Given the description of an element on the screen output the (x, y) to click on. 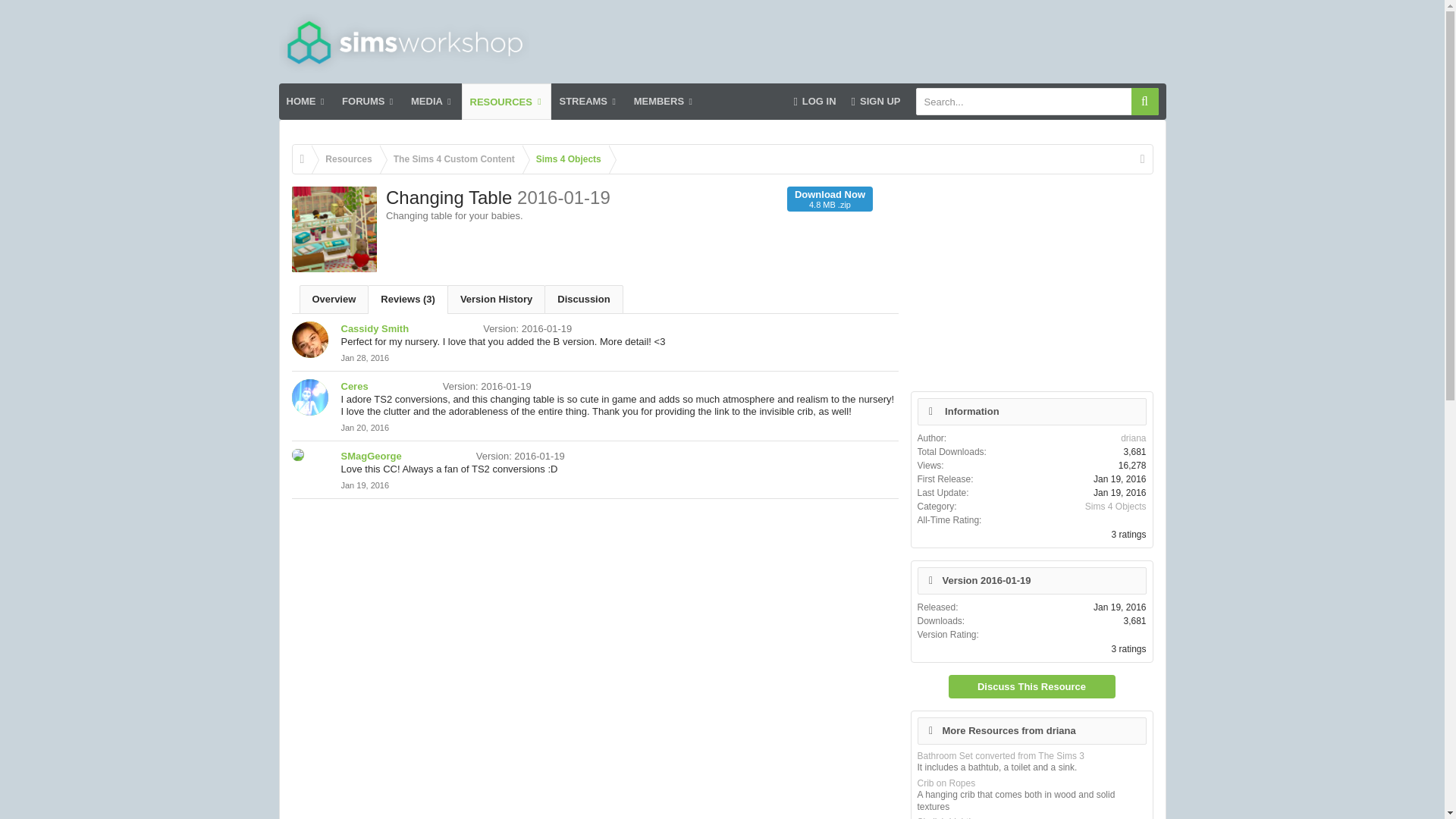
5.00 (439, 454)
Enter your search and hit enter (1036, 101)
Permalink (365, 357)
Permalink (365, 427)
5.00 (446, 327)
5.00 (406, 385)
Jan 20, 2016 at 12:39 PM (365, 427)
Jan 28, 2016 at 2:14 PM (365, 357)
